Given the description of an element on the screen output the (x, y) to click on. 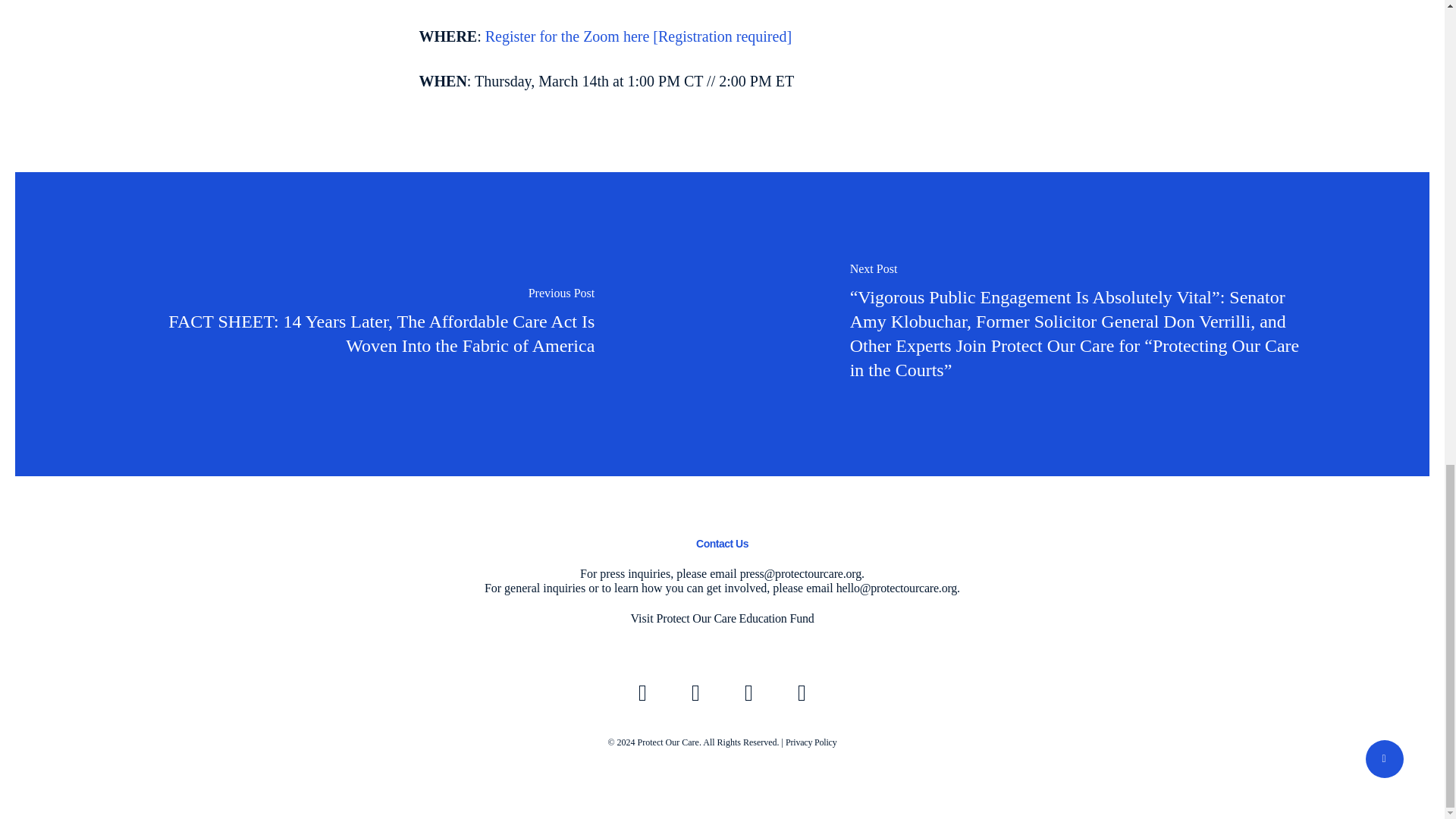
Protect Our Care Education Fund (734, 617)
youtube (748, 693)
instagram (802, 693)
facebook (695, 693)
twitter (642, 693)
